Given the description of an element on the screen output the (x, y) to click on. 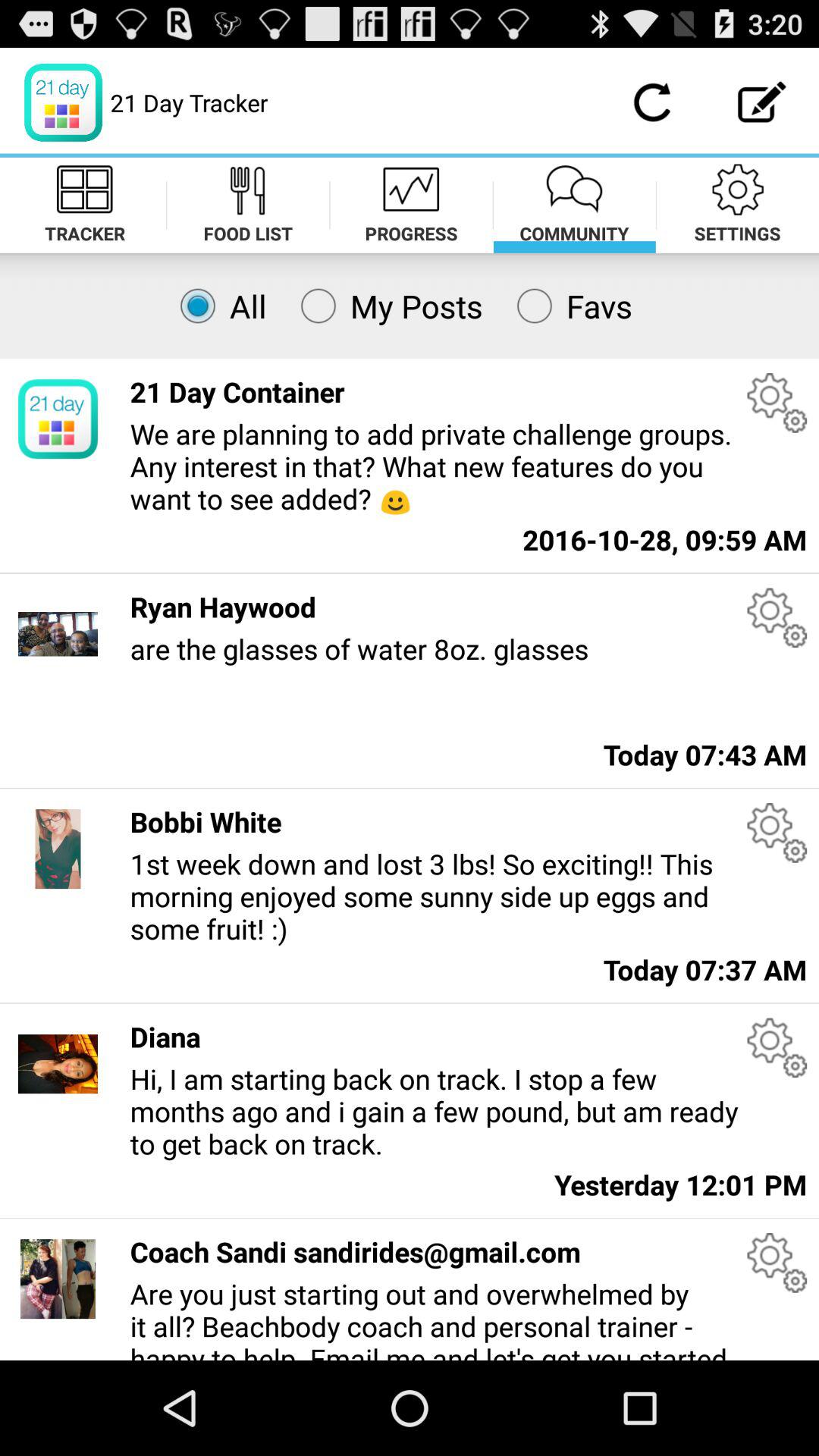
compose option (763, 102)
